Given the description of an element on the screen output the (x, y) to click on. 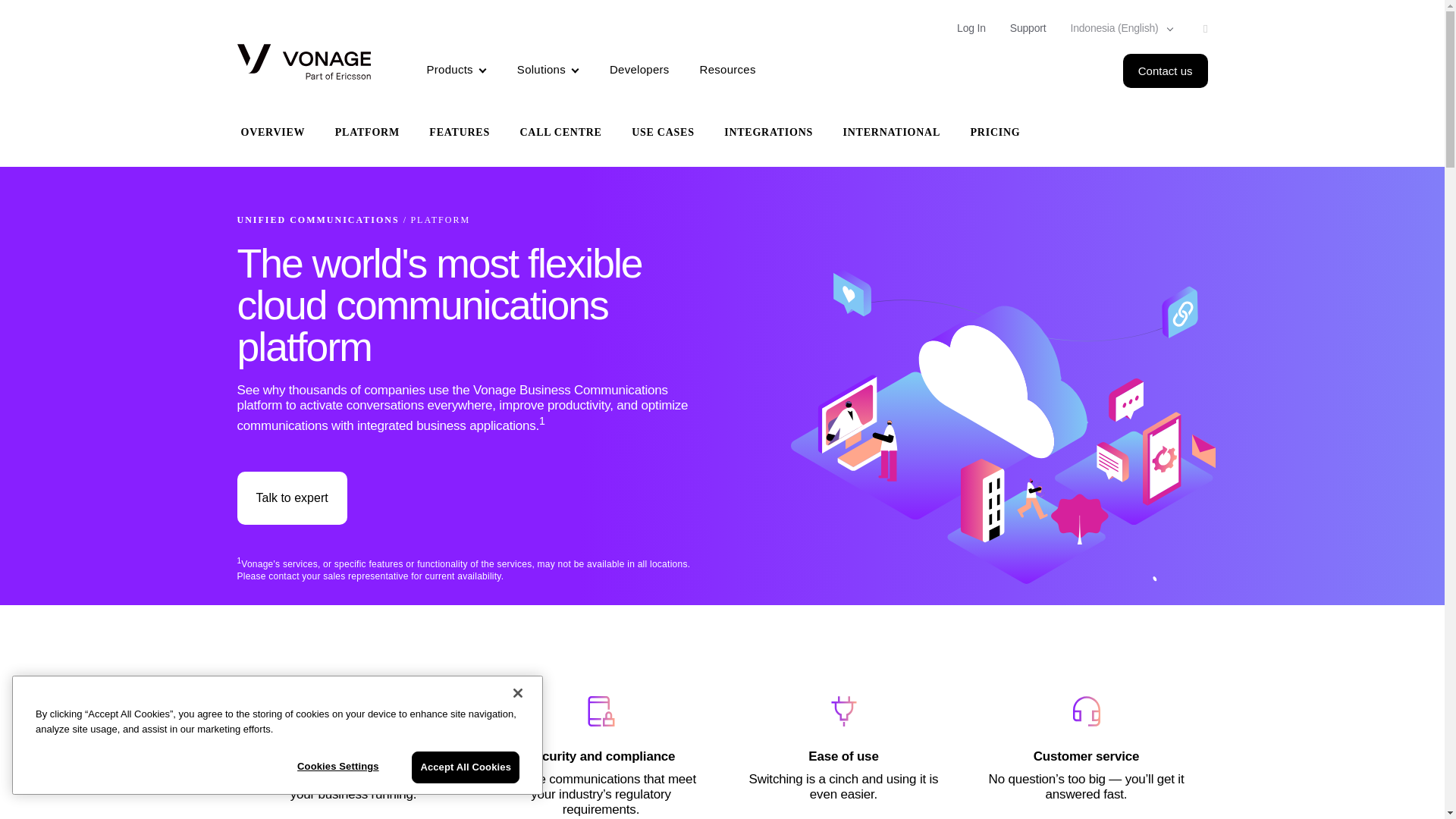
Products (456, 70)
One Platform (1002, 426)
Rate Up (357, 711)
Lock (600, 711)
Headset (1085, 711)
Plug (843, 711)
